Given the description of an element on the screen output the (x, y) to click on. 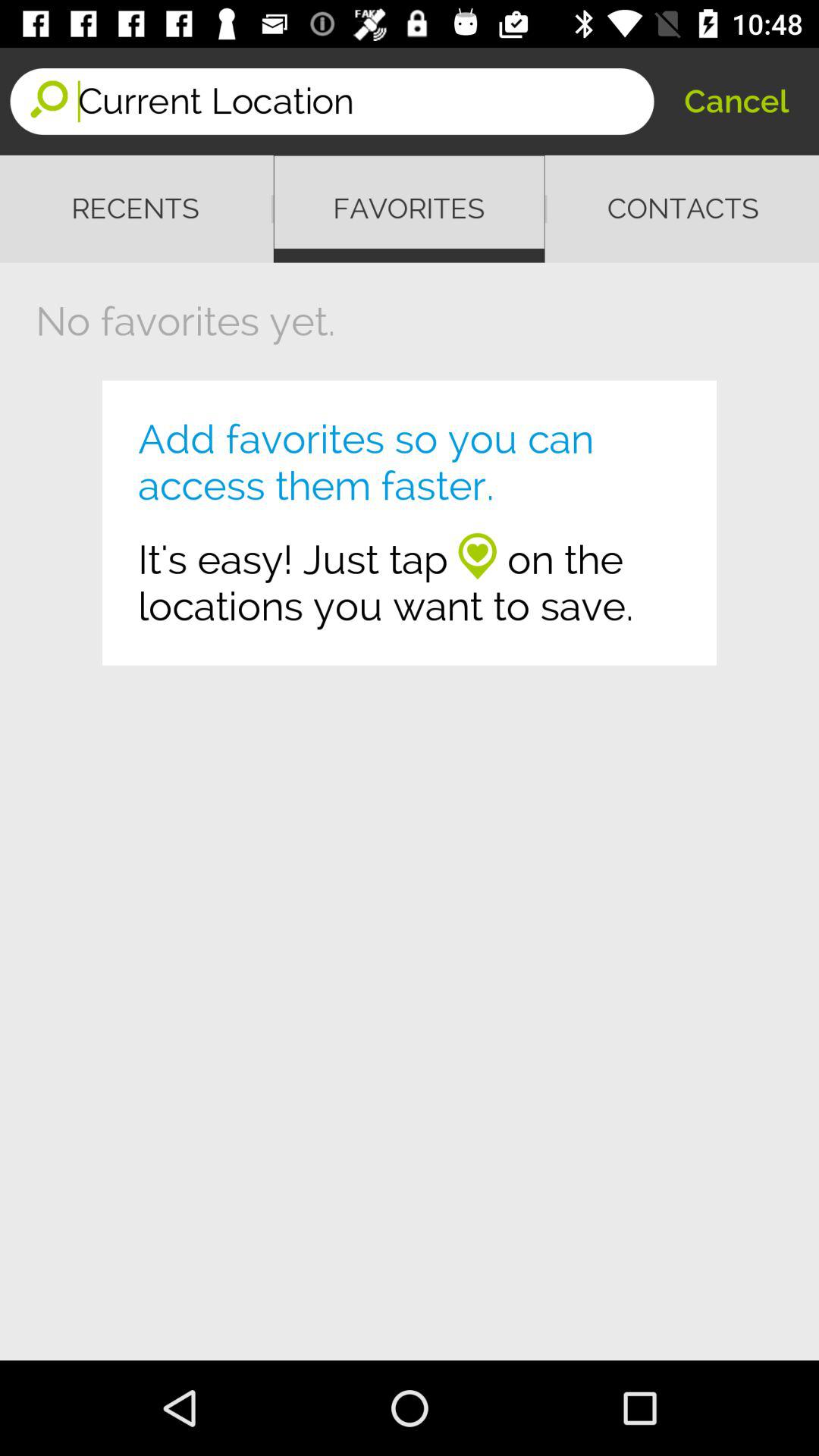
launch the item to the left of the cancel (365, 101)
